Given the description of an element on the screen output the (x, y) to click on. 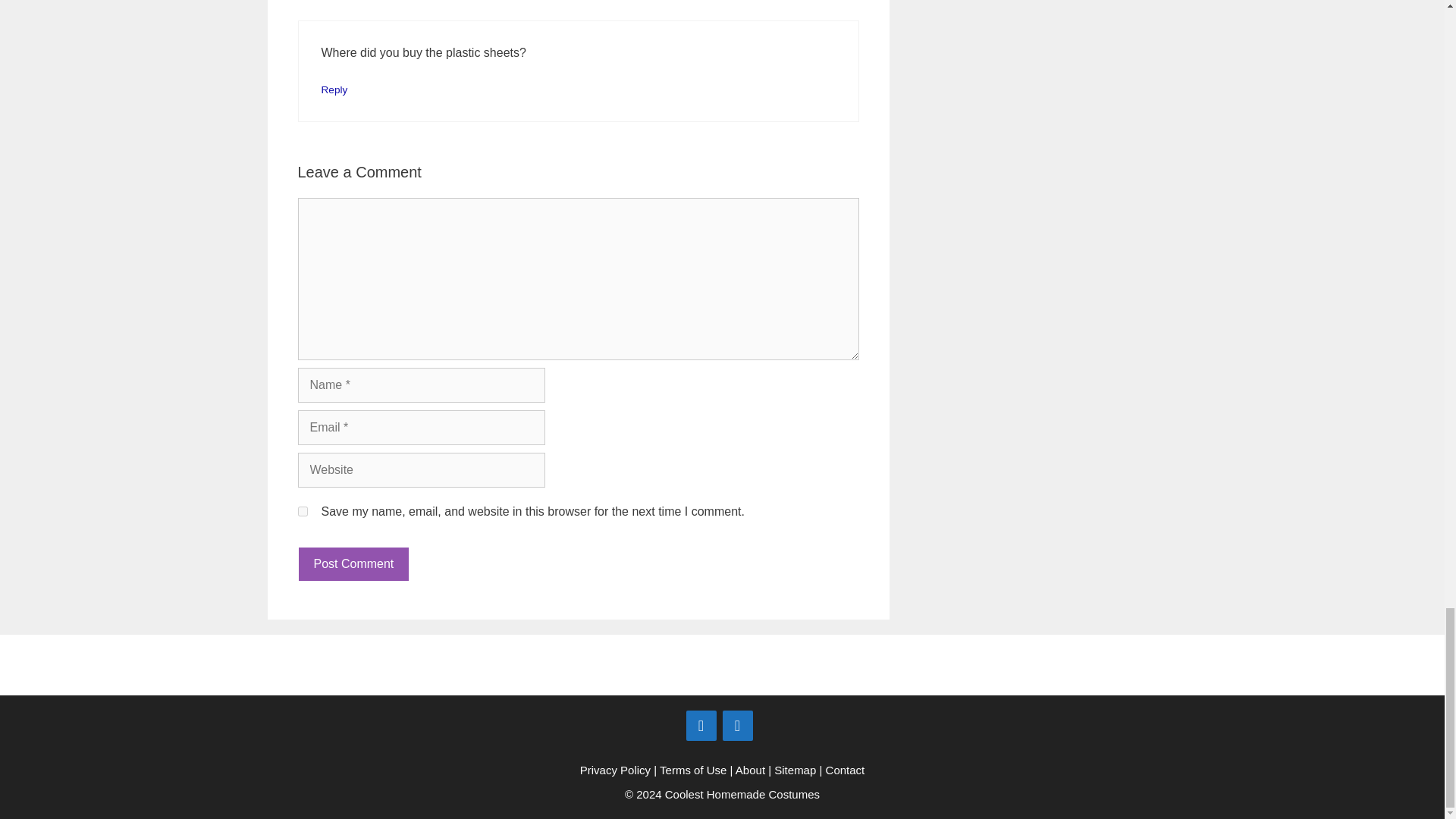
Instagram (737, 725)
yes (302, 511)
Facebook (700, 725)
Post Comment (353, 564)
